Given the description of an element on the screen output the (x, y) to click on. 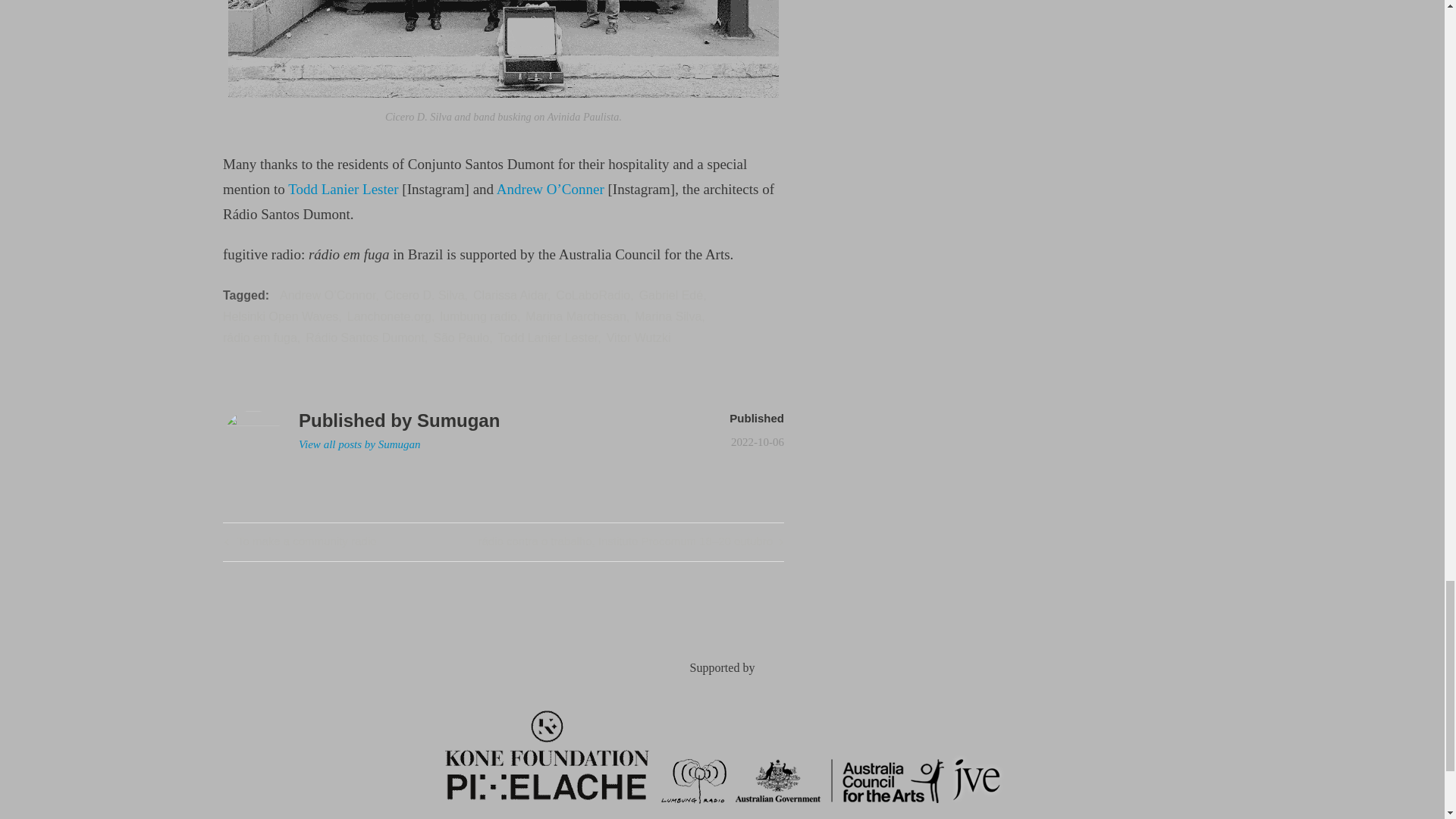
Todd Lanier Lester (547, 337)
Marina Marchesan (575, 316)
Todd Lanier Lester (299, 542)
CoLaboRadio (342, 188)
View all posts by Sumugan (593, 295)
Cicero D. Silva (359, 444)
Vitor Wutzki (424, 295)
lumbung radio (639, 337)
Helsinki Open Waves (477, 316)
Clarissa Aidar (279, 316)
Lanchonete.org (510, 295)
Marina Silva (388, 316)
